Given the description of an element on the screen output the (x, y) to click on. 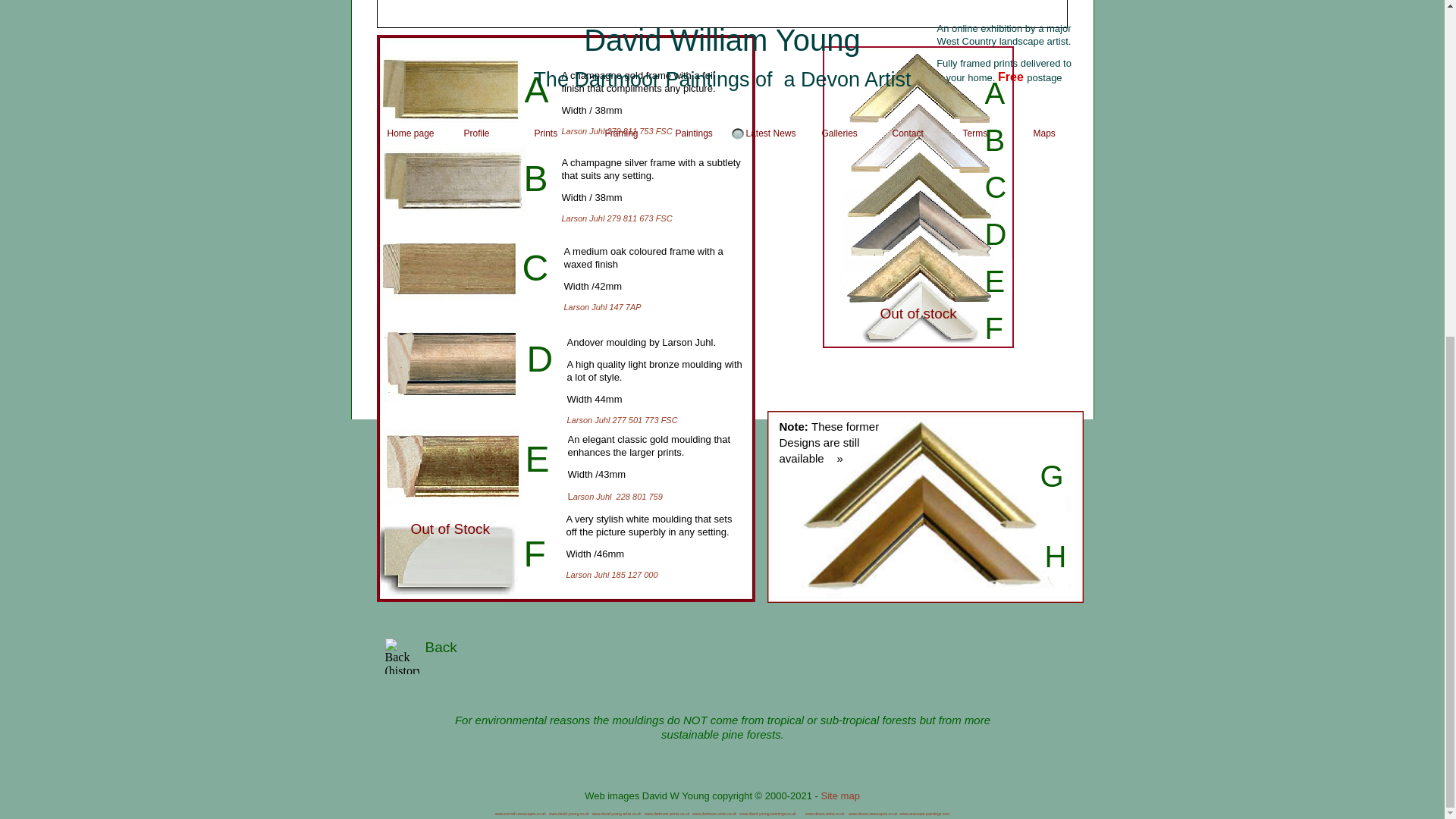
Site Map hyperlink (721, 803)
Larson Juhl 279 811 753 FSC (615, 130)
www.david-young-paintings.co.uk (766, 813)
Larson Juhl 147 7AP (603, 307)
www.seascape-paintings.com (924, 813)
www.david-young-artist.co.uk (617, 813)
Larson Juhl 277 501 773 FSC (622, 420)
www.devon-artist.co.uk (824, 813)
Back (441, 647)
www.cornish-seascapes.co.uk (520, 813)
